Given the description of an element on the screen output the (x, y) to click on. 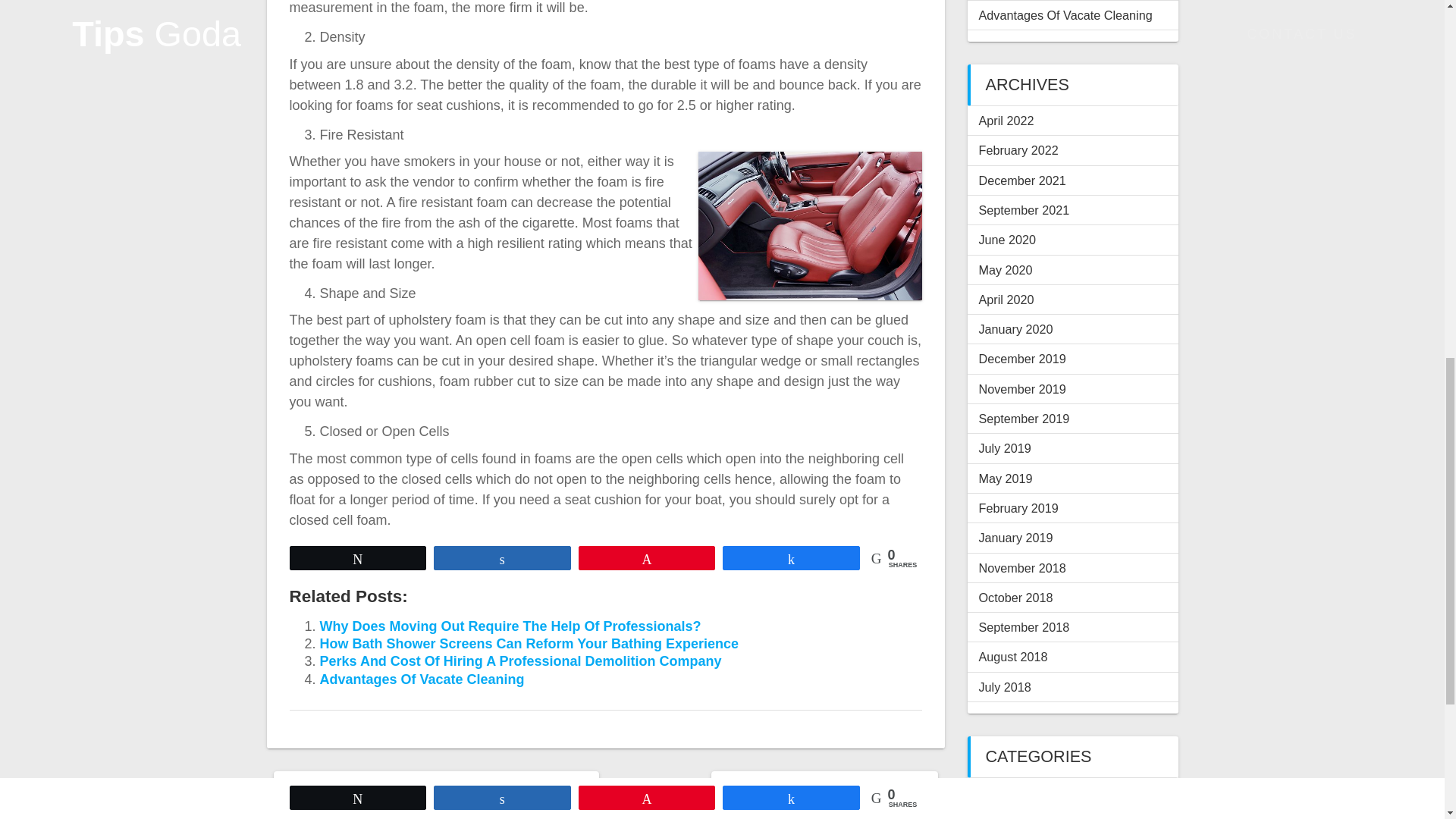
April 2020 (1005, 299)
July 2019 (1004, 448)
Advantages Of Vacate Cleaning (422, 679)
How Bath Shower Screens Can Reform Your Bathing Experience (529, 643)
Perks And Cost Of Hiring A Professional Demolition Company (521, 661)
January 2020 (1015, 328)
November 2018 (1021, 567)
June 2020 (1006, 239)
February 2019 (1018, 508)
January 2019 (1015, 537)
September 2021 (1023, 210)
October 2018 (1015, 597)
April 2022 (1005, 120)
September 2019 (1023, 418)
Advantages Of Vacate Cleaning (1064, 15)
